Given the description of an element on the screen output the (x, y) to click on. 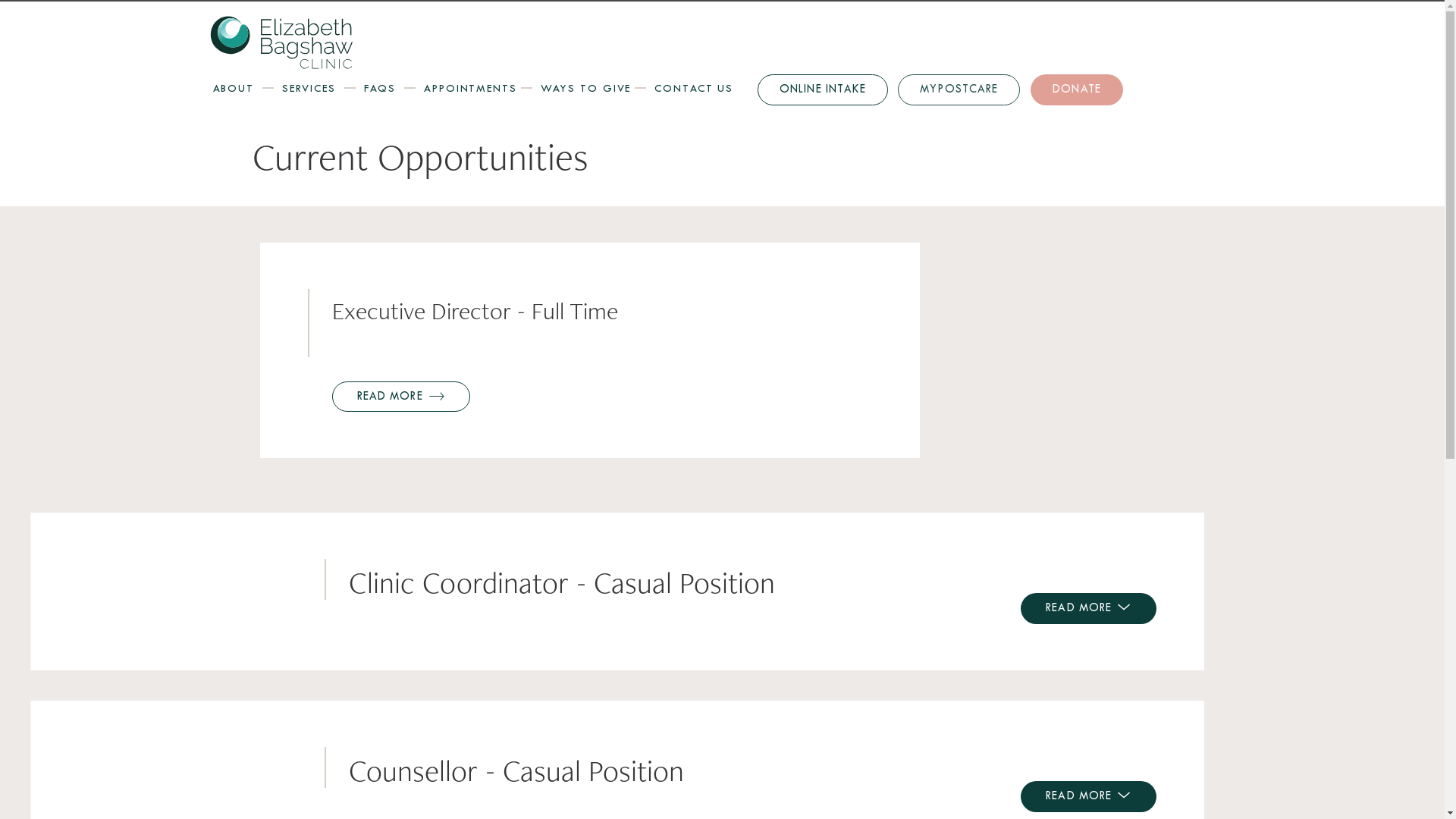
APPOINTMENTS Element type: text (470, 89)
DONATE Element type: text (1076, 89)
READ MORE Element type: text (401, 396)
WAYS TO GIVE Element type: text (585, 89)
MYPOSTCARE Element type: text (958, 89)
ONLINE INTAKE Element type: text (822, 89)
ABOUT Element type: text (232, 89)
CONTACT US Element type: text (693, 89)
READ MORE Element type: text (1087, 796)
READ MORE Element type: text (1087, 608)
SERVICES Element type: text (309, 89)
FAQS Element type: text (379, 89)
